Given the description of an element on the screen output the (x, y) to click on. 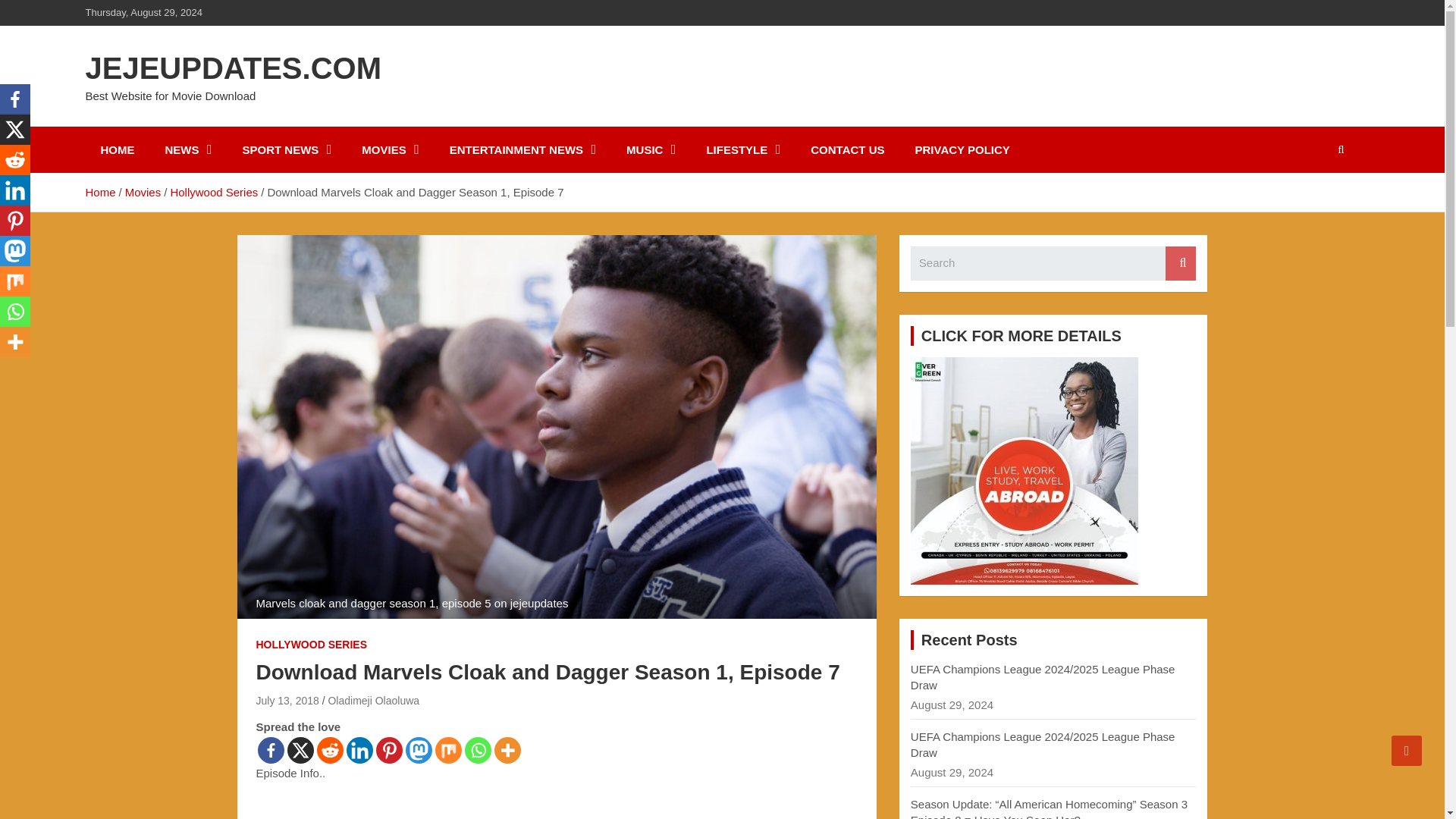
NEWS (188, 149)
Mastodon (15, 250)
Facebook (15, 99)
Home (99, 192)
SPORT NEWS (287, 149)
More (508, 750)
Pinterest (389, 750)
JEJEUPDATES.COM (232, 68)
Mastodon (417, 750)
Reddit (330, 750)
